Given the description of an element on the screen output the (x, y) to click on. 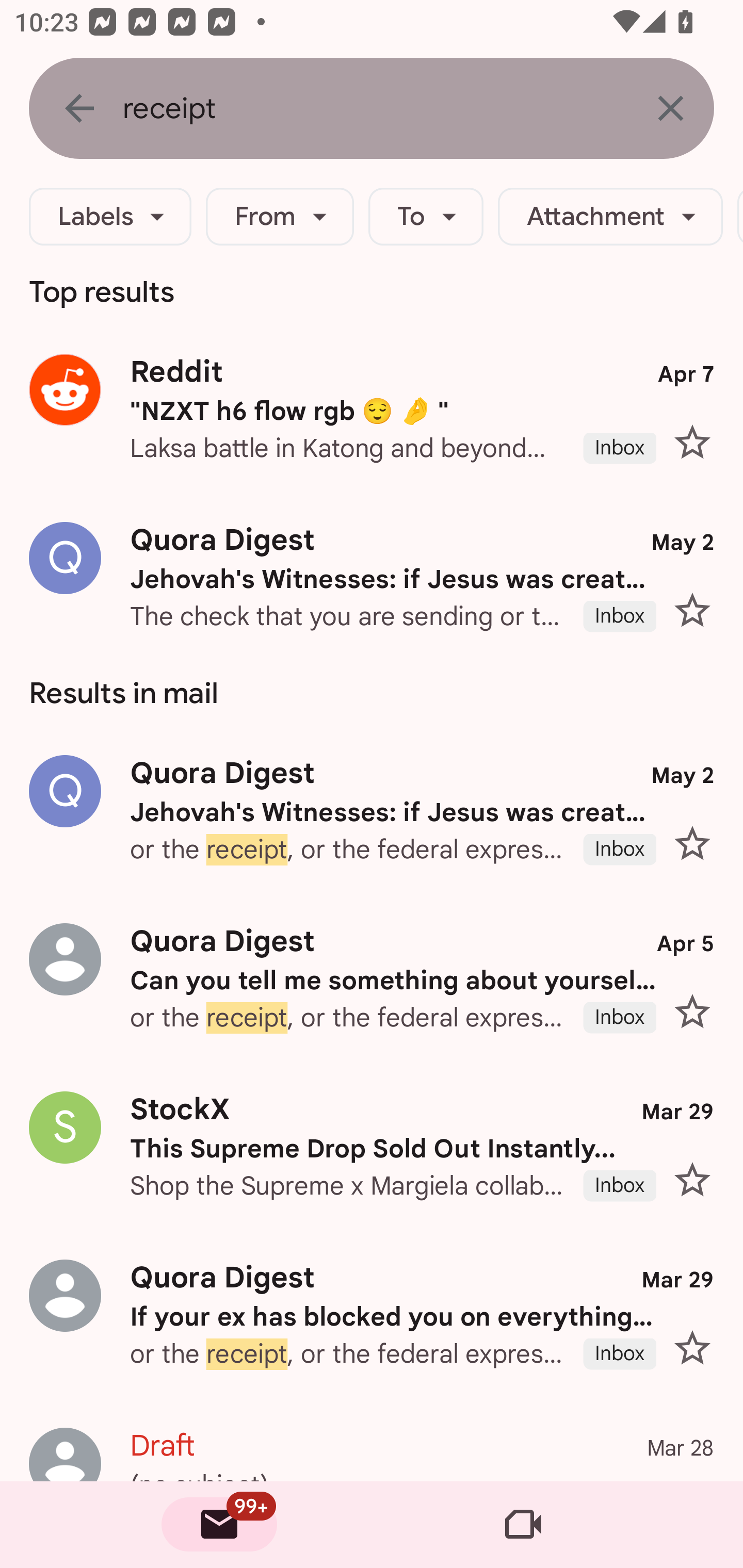
receipt Navigate up receipt Clear search text (371, 108)
Navigate up (79, 108)
Clear search text (670, 108)
Labels (109, 217)
From (279, 217)
To (425, 217)
Attachment (609, 217)
Meet (523, 1524)
